Given the description of an element on the screen output the (x, y) to click on. 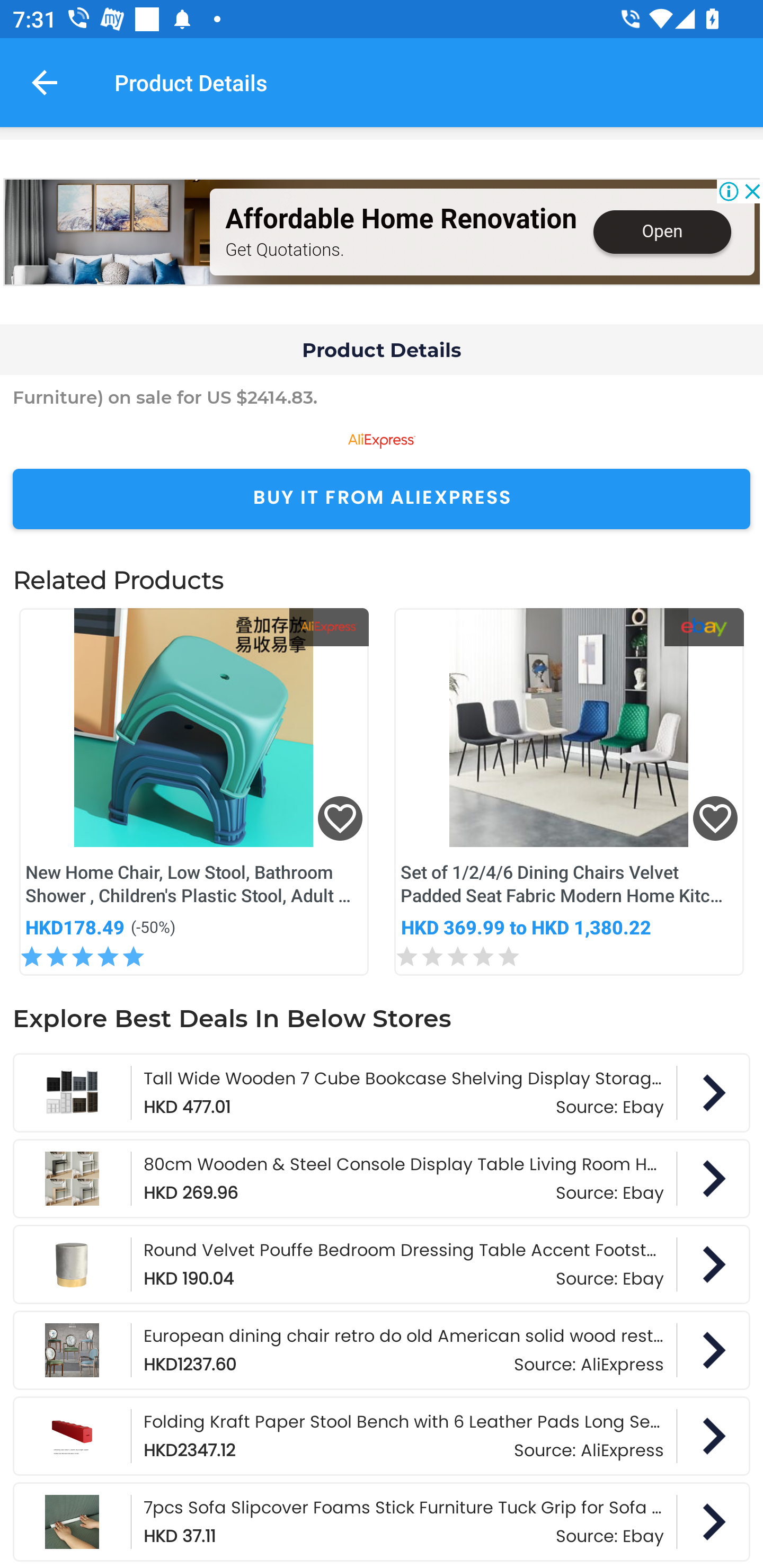
Navigate up (44, 82)
free-quote (107, 231)
Affordable Home Renovation (400, 219)
Open (661, 232)
Get Quotations. (284, 249)
BUY IT FROM ALIEXPRESS (381, 499)
